Given the description of an element on the screen output the (x, y) to click on. 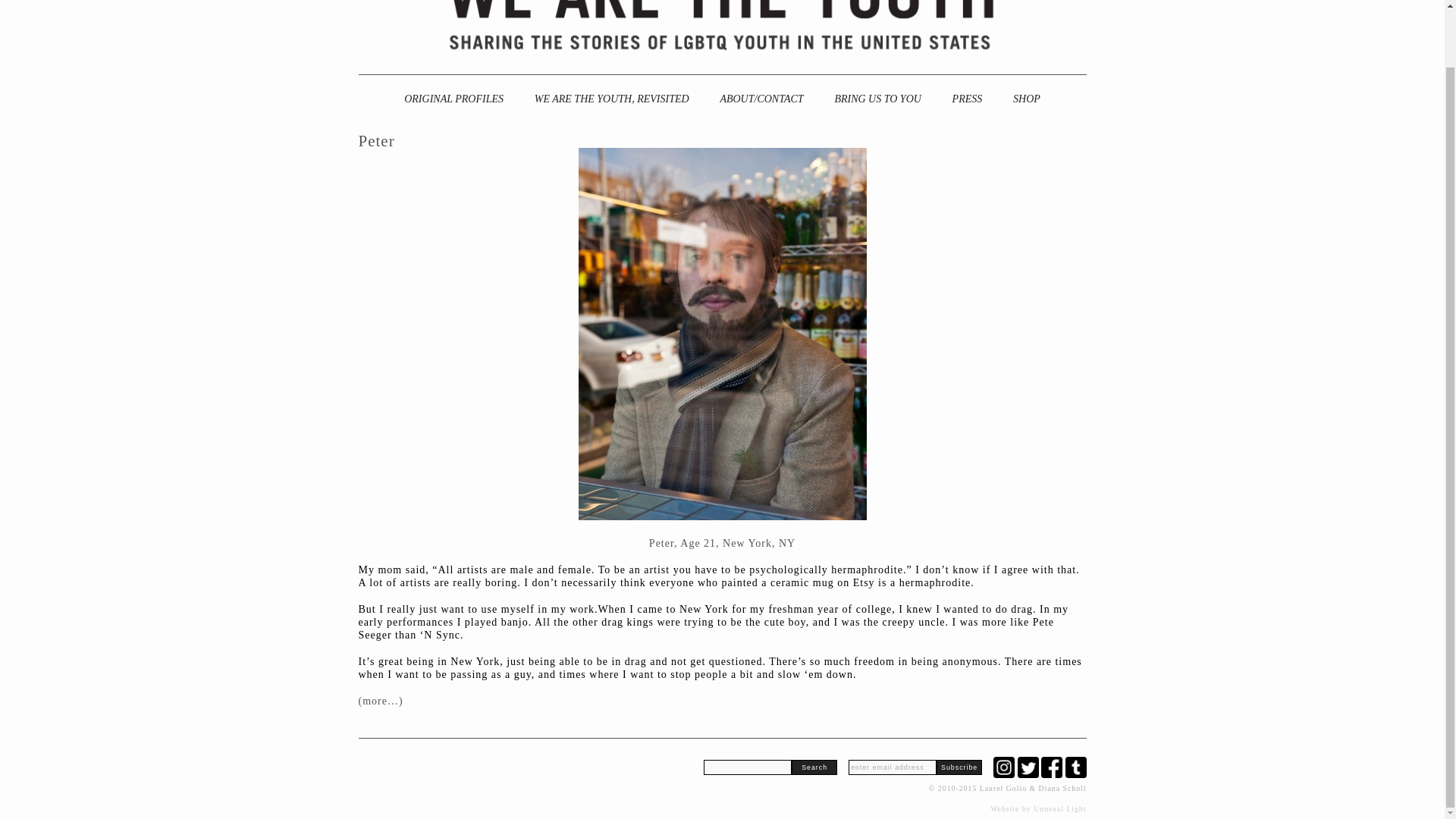
Peter, Age 21, New York, NY (721, 542)
SHOP (1026, 98)
BRING US TO YOU (877, 98)
Subscribe (958, 767)
Website by Unusual Light (1038, 808)
enter email address (892, 767)
Peter (376, 140)
Search (814, 767)
We Are the Youth (721, 33)
PRESS (967, 98)
Search (814, 767)
Subscribe (958, 767)
WE ARE THE YOUTH, REVISITED (612, 98)
ORIGINAL PROFILES (453, 98)
